Given the description of an element on the screen output the (x, y) to click on. 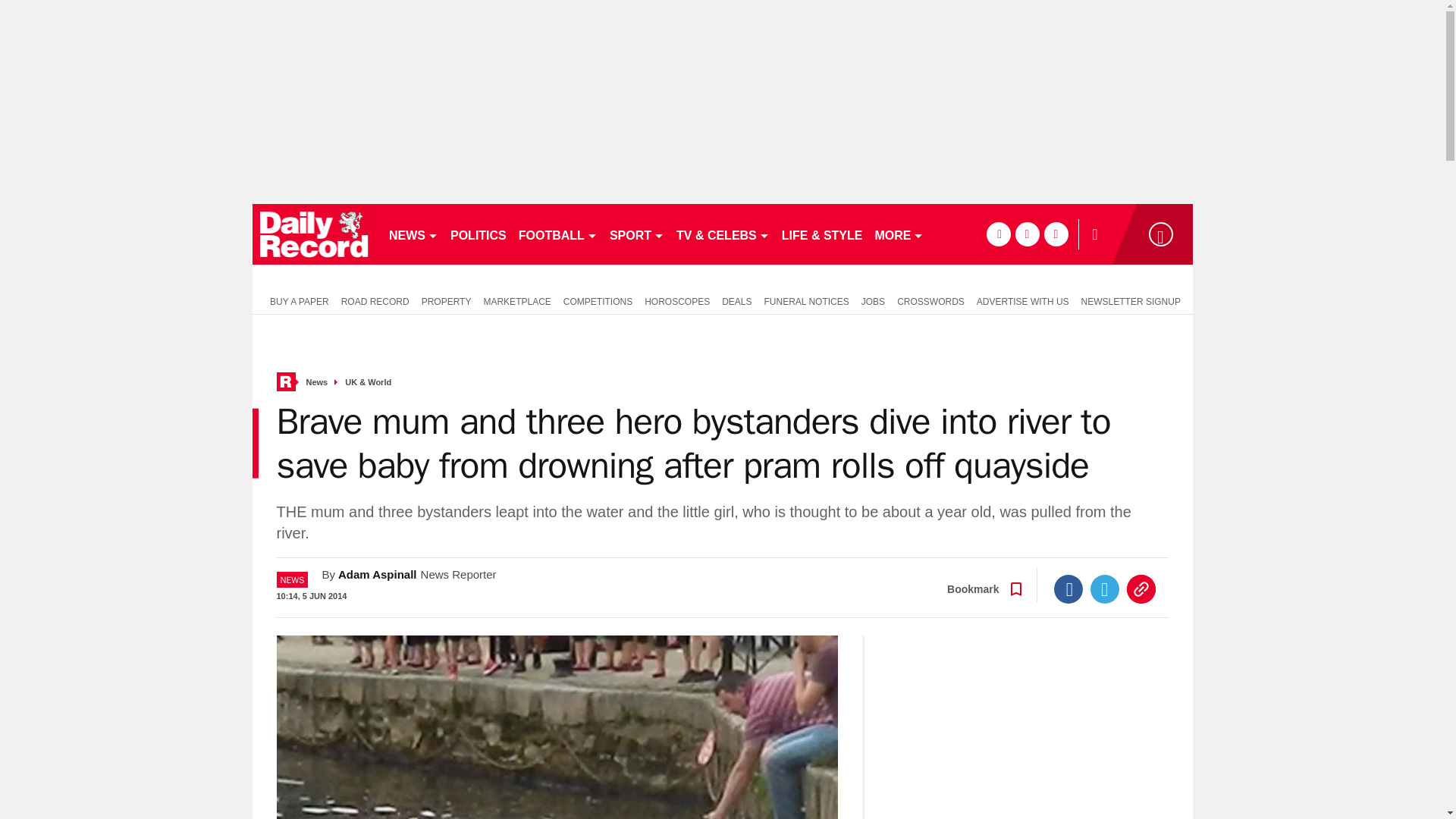
facebook (997, 233)
POLITICS (478, 233)
NEWS (413, 233)
twitter (1026, 233)
Twitter (1104, 588)
instagram (1055, 233)
FOOTBALL (558, 233)
Facebook (1068, 588)
SPORT (636, 233)
dailyrecord (313, 233)
